Given the description of an element on the screen output the (x, y) to click on. 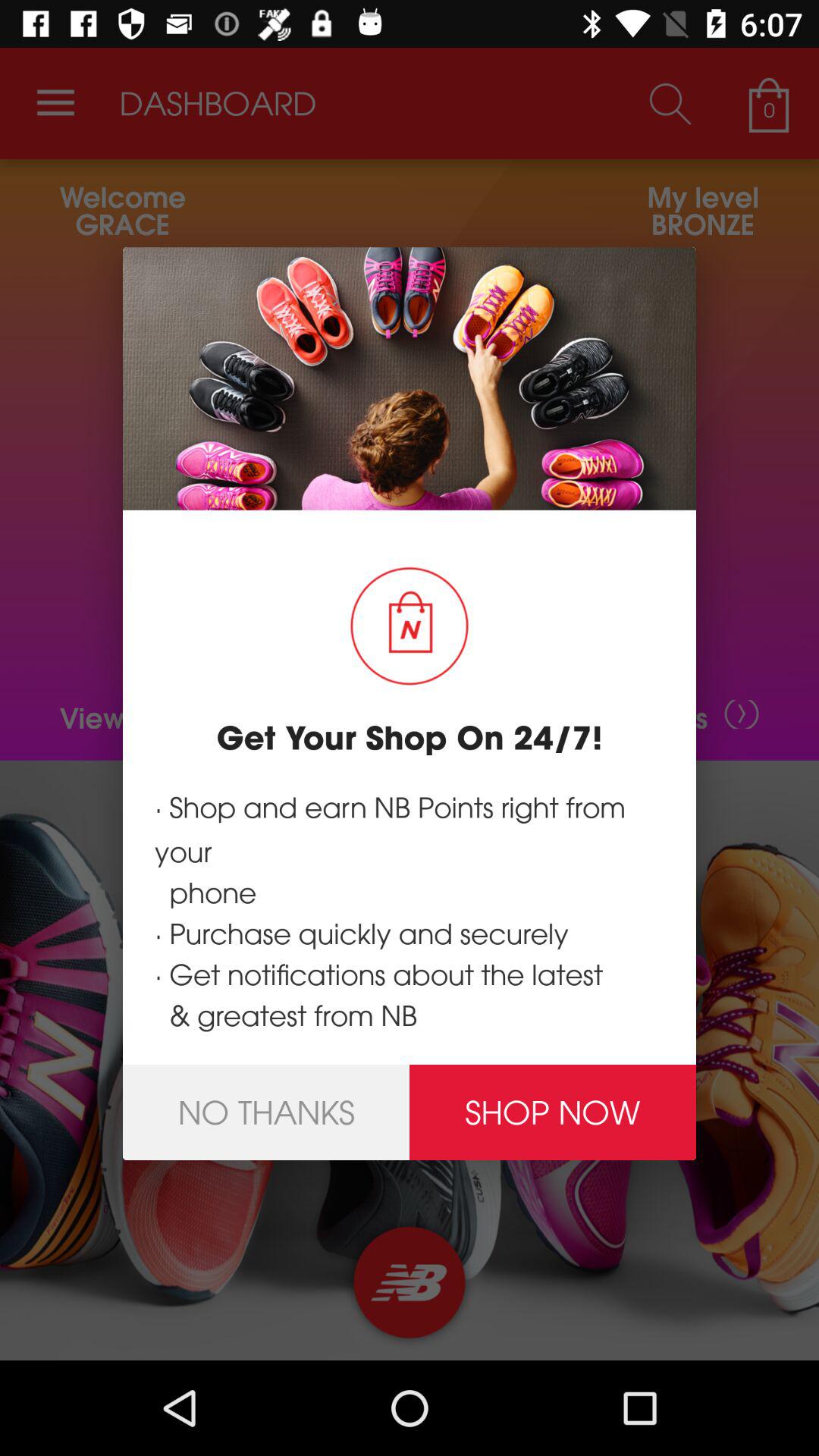
open item to the right of the no thanks icon (552, 1112)
